Given the description of an element on the screen output the (x, y) to click on. 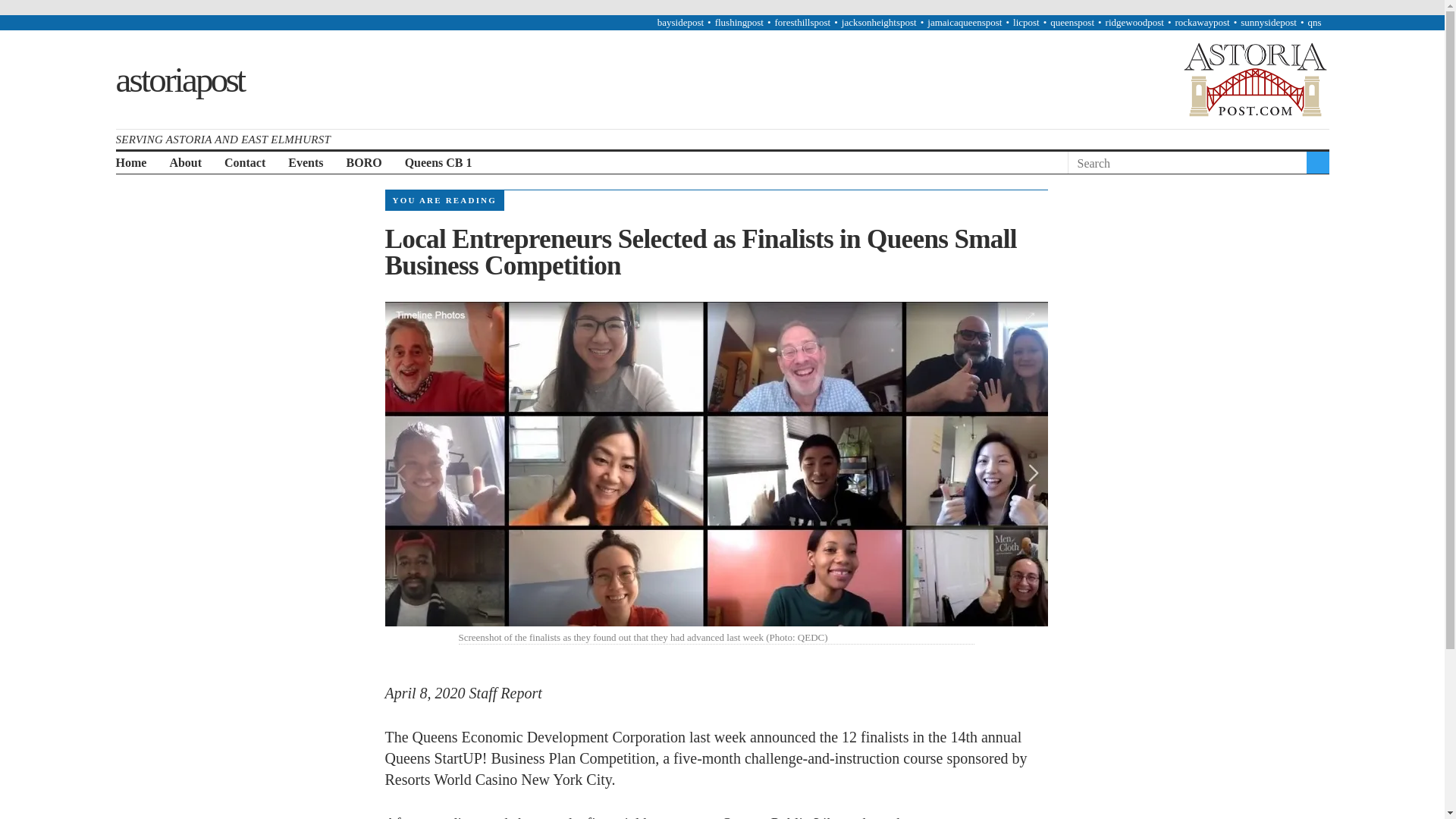
Events (305, 163)
jamaicaqueenspost (964, 21)
queenspost (1071, 21)
About (185, 163)
Home (131, 163)
rockawaypost (1201, 21)
ridgewoodpost (1134, 21)
baysidepost (680, 21)
flushingpost (738, 21)
qns (1313, 21)
licpost (1026, 21)
sunnysidepost (1268, 21)
Queens CB 1 (437, 163)
jacksonheightspost (879, 21)
astoriapost (179, 78)
